Given the description of an element on the screen output the (x, y) to click on. 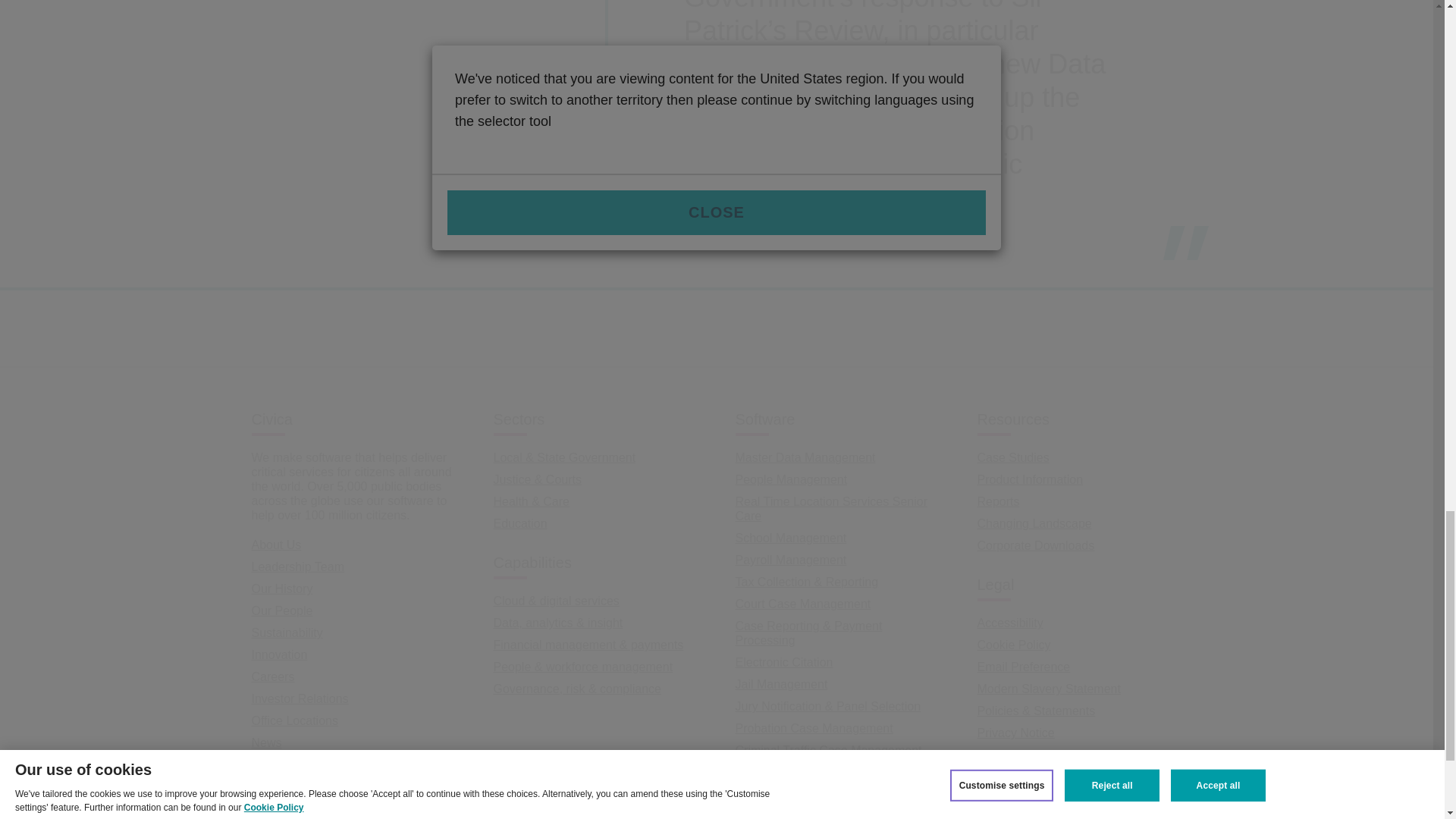
News (266, 742)
Buying Frameworks (304, 764)
Leadership Team (297, 566)
Careers (273, 676)
Support (272, 786)
Investor Relations (300, 698)
Our History (282, 588)
Innovation (279, 654)
Our People (282, 610)
Office Locations (294, 720)
Sustainability (287, 632)
About Us (276, 544)
Education (520, 522)
